Given the description of an element on the screen output the (x, y) to click on. 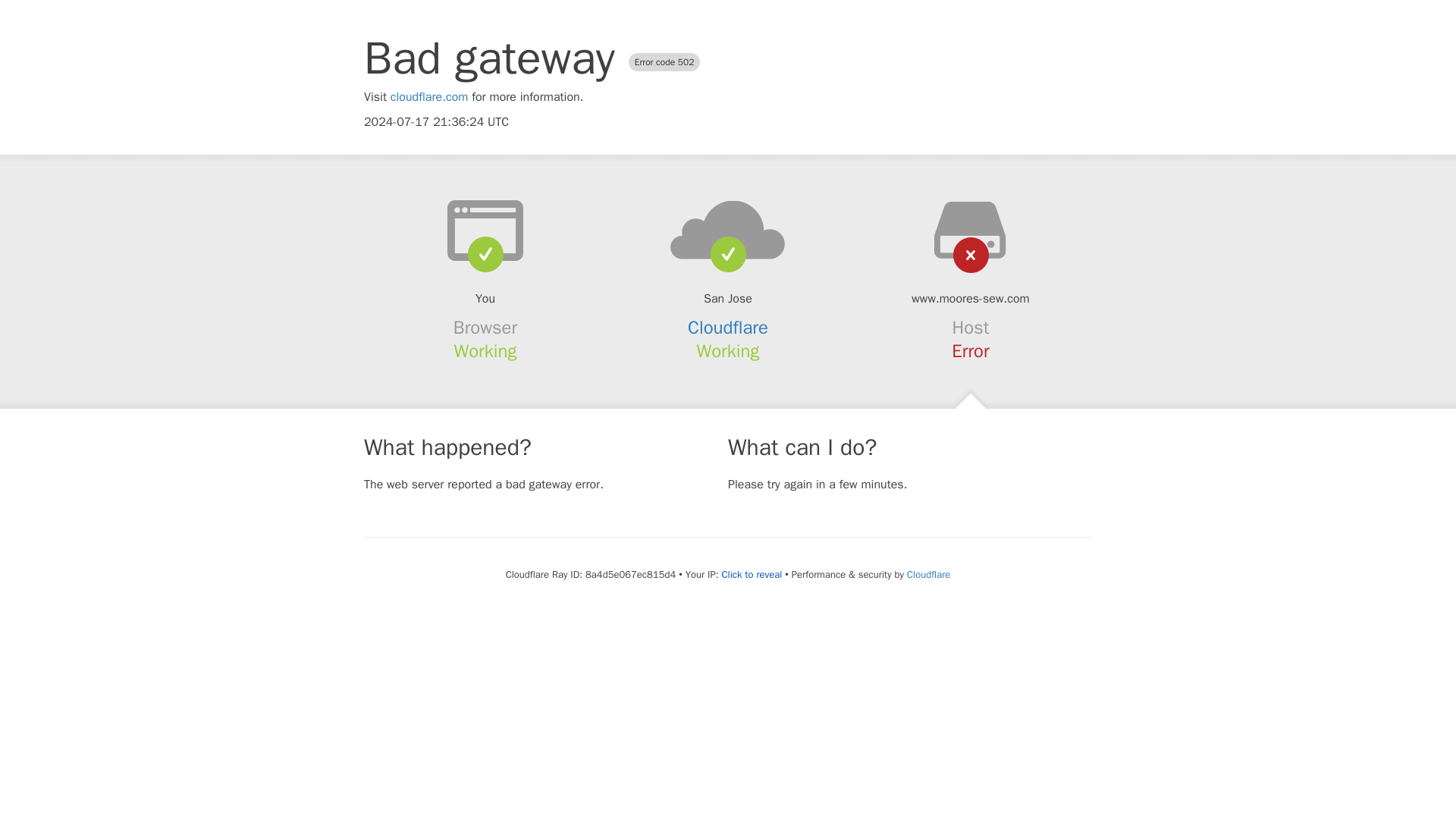
Cloudflare (928, 574)
Cloudflare (727, 327)
cloudflare.com (429, 96)
Click to reveal (750, 574)
